Given the description of an element on the screen output the (x, y) to click on. 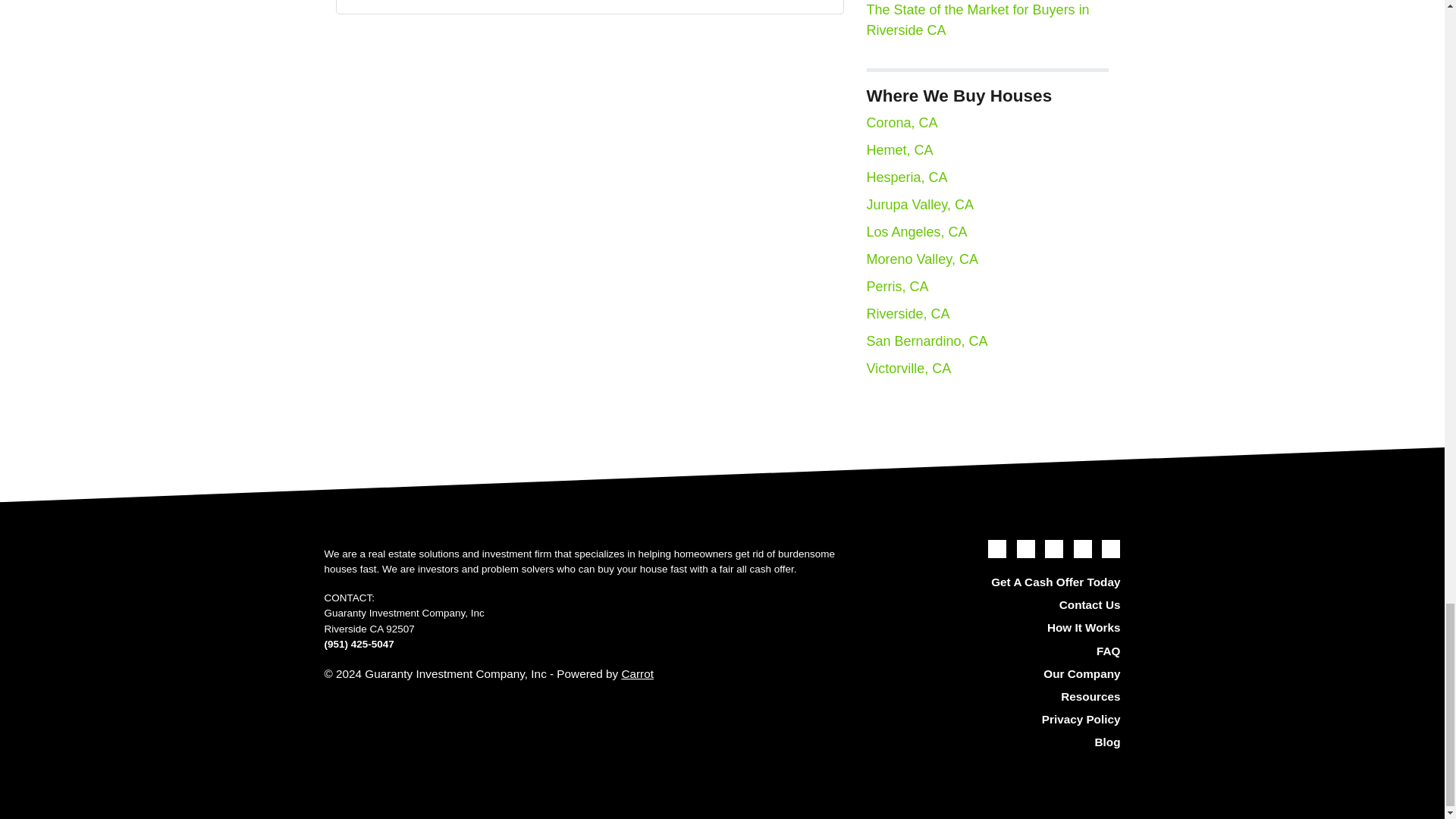
Perris, CA (897, 286)
Jurupa Valley, CA (919, 204)
Hemet, CA (899, 150)
Corona, CA (901, 122)
Riverside, CA (907, 313)
Moreno Valley, CA (921, 258)
The State of the Market for Buyers in Riverside CA (977, 19)
Los Angeles, CA (916, 231)
Hesperia, CA (906, 177)
